Given the description of an element on the screen output the (x, y) to click on. 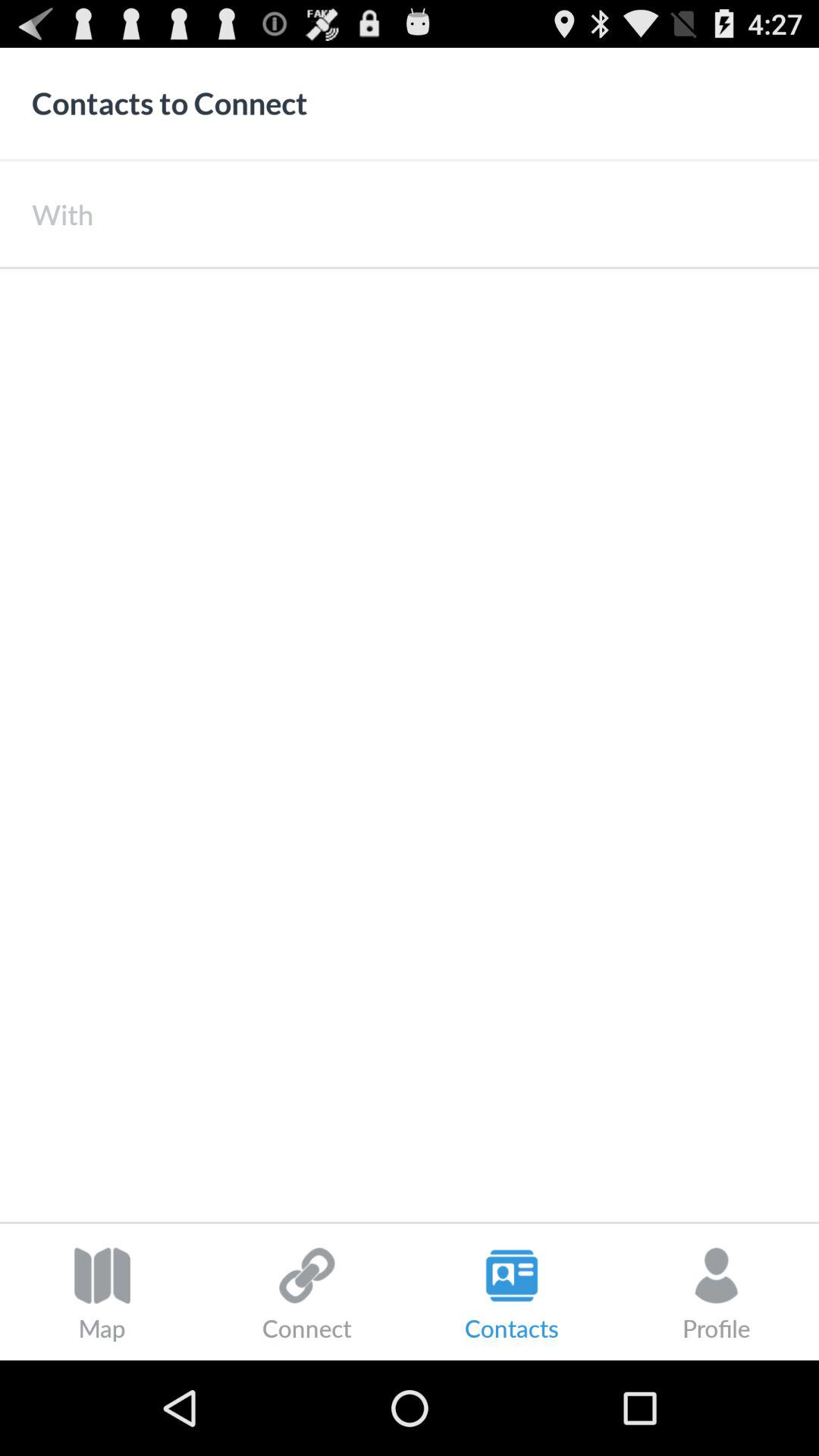
empty list of contacts to connect with (409, 745)
